Given the description of an element on the screen output the (x, y) to click on. 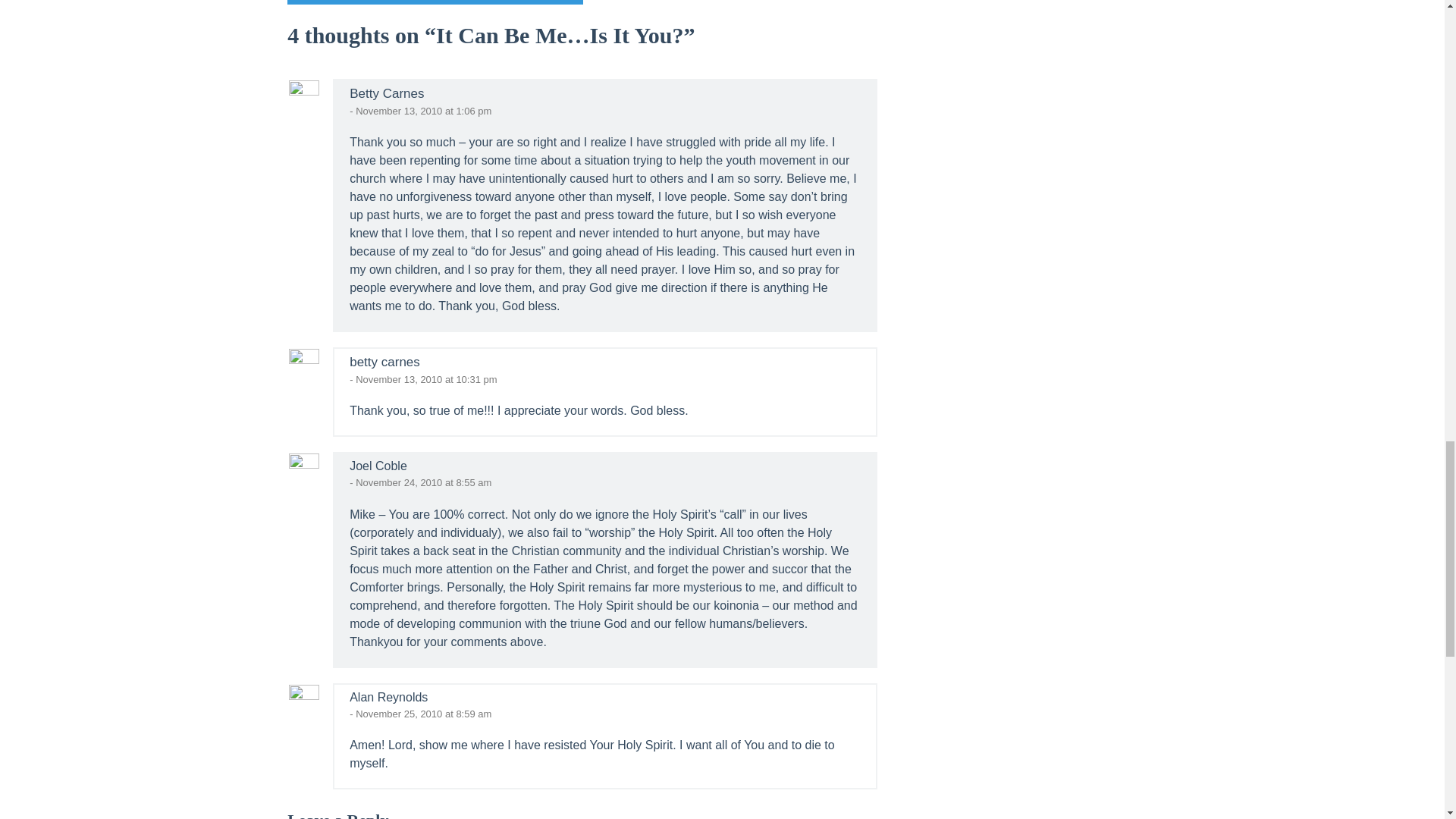
- November 13, 2010 at 10:31 pm (422, 378)
- November 25, 2010 at 8:59 am (420, 713)
betty carnes (384, 361)
- November 13, 2010 at 1:06 pm (420, 111)
- November 24, 2010 at 8:55 am (420, 482)
Betty Carnes (386, 93)
